Given the description of an element on the screen output the (x, y) to click on. 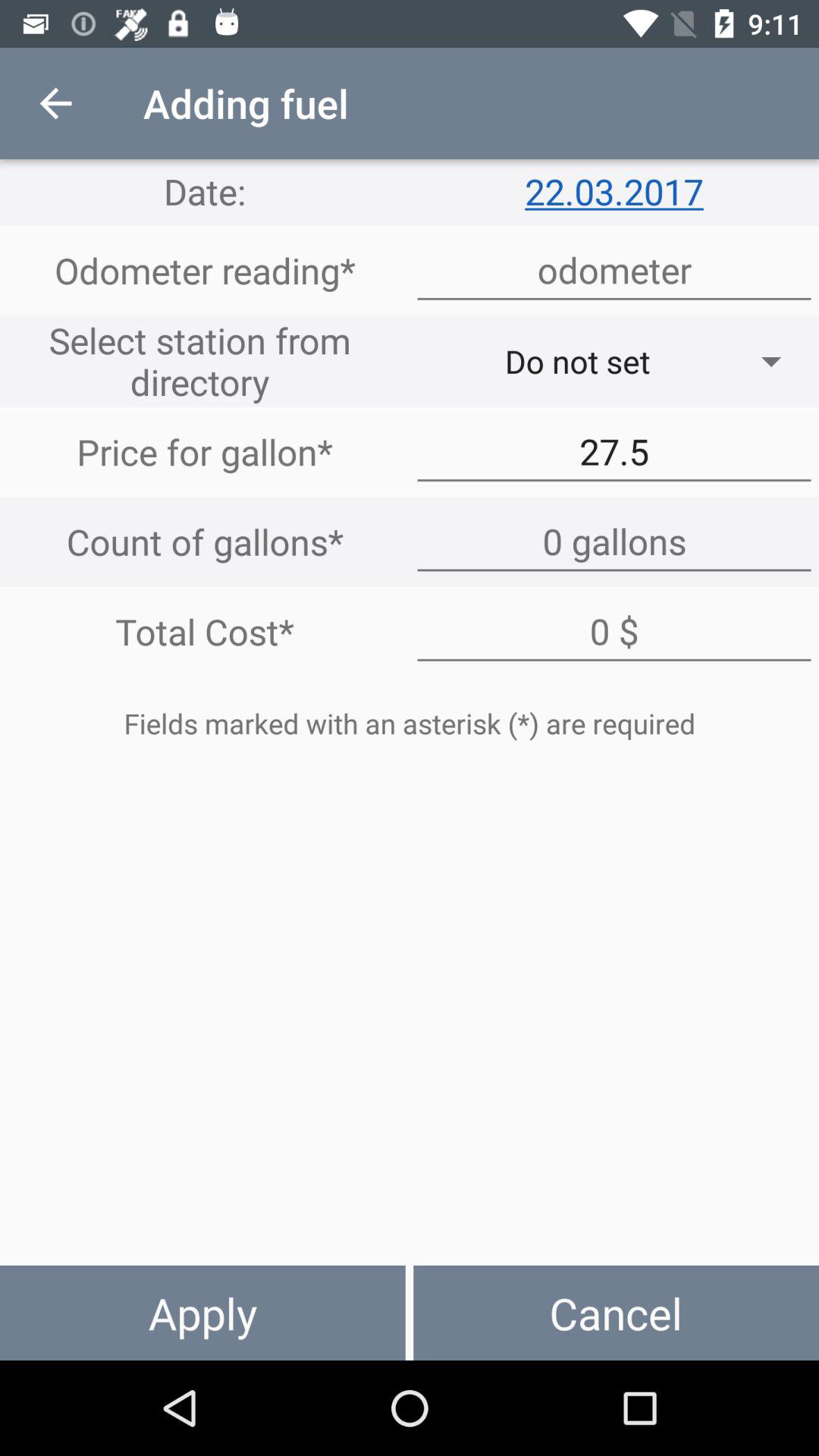
odometer entry (614, 270)
